Given the description of an element on the screen output the (x, y) to click on. 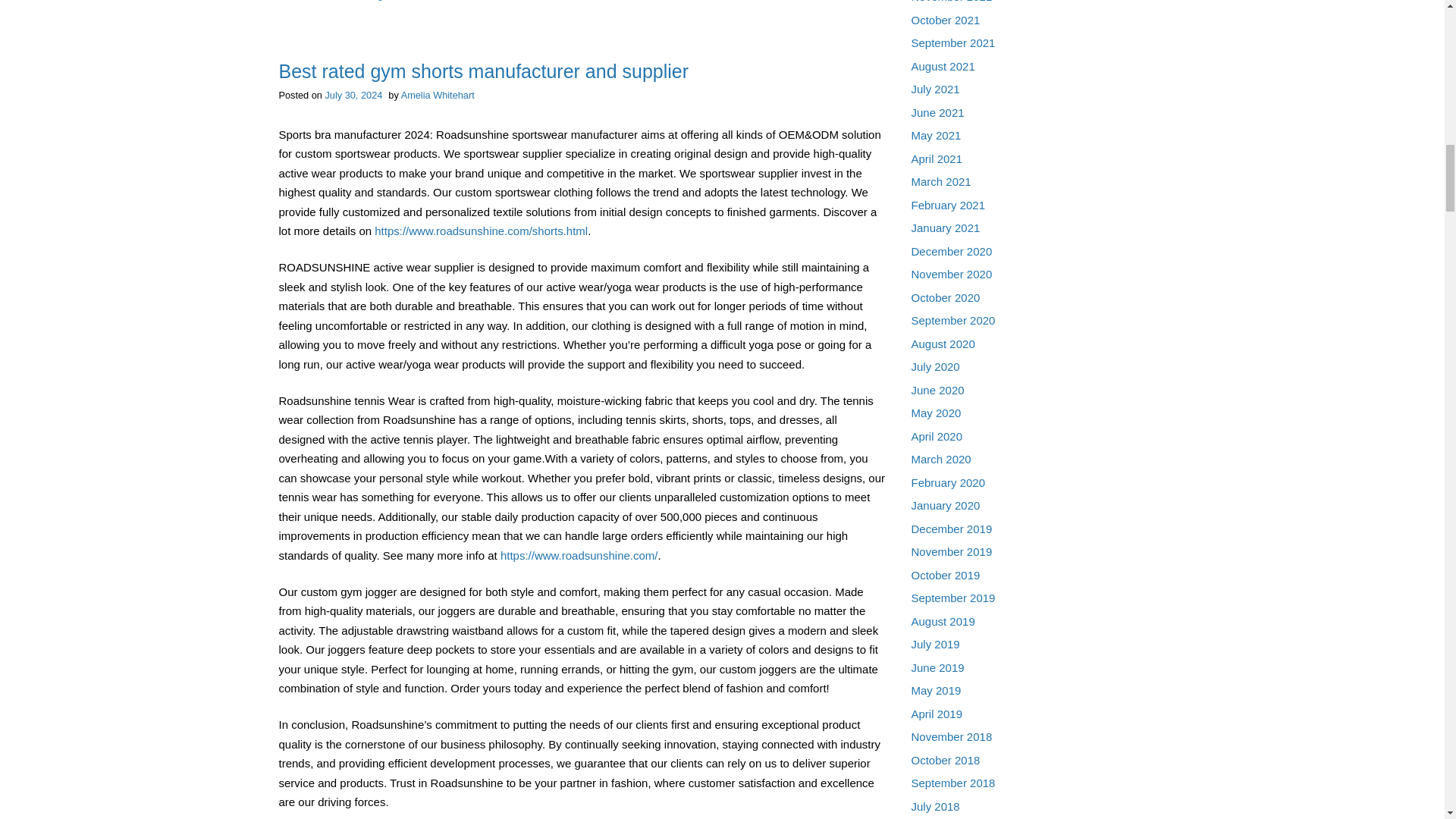
Manufacturing (351, 0)
July 30, 2024 (352, 94)
Amelia Whitehart (437, 94)
Best rated gym shorts manufacturer and supplier (483, 70)
